Given the description of an element on the screen output the (x, y) to click on. 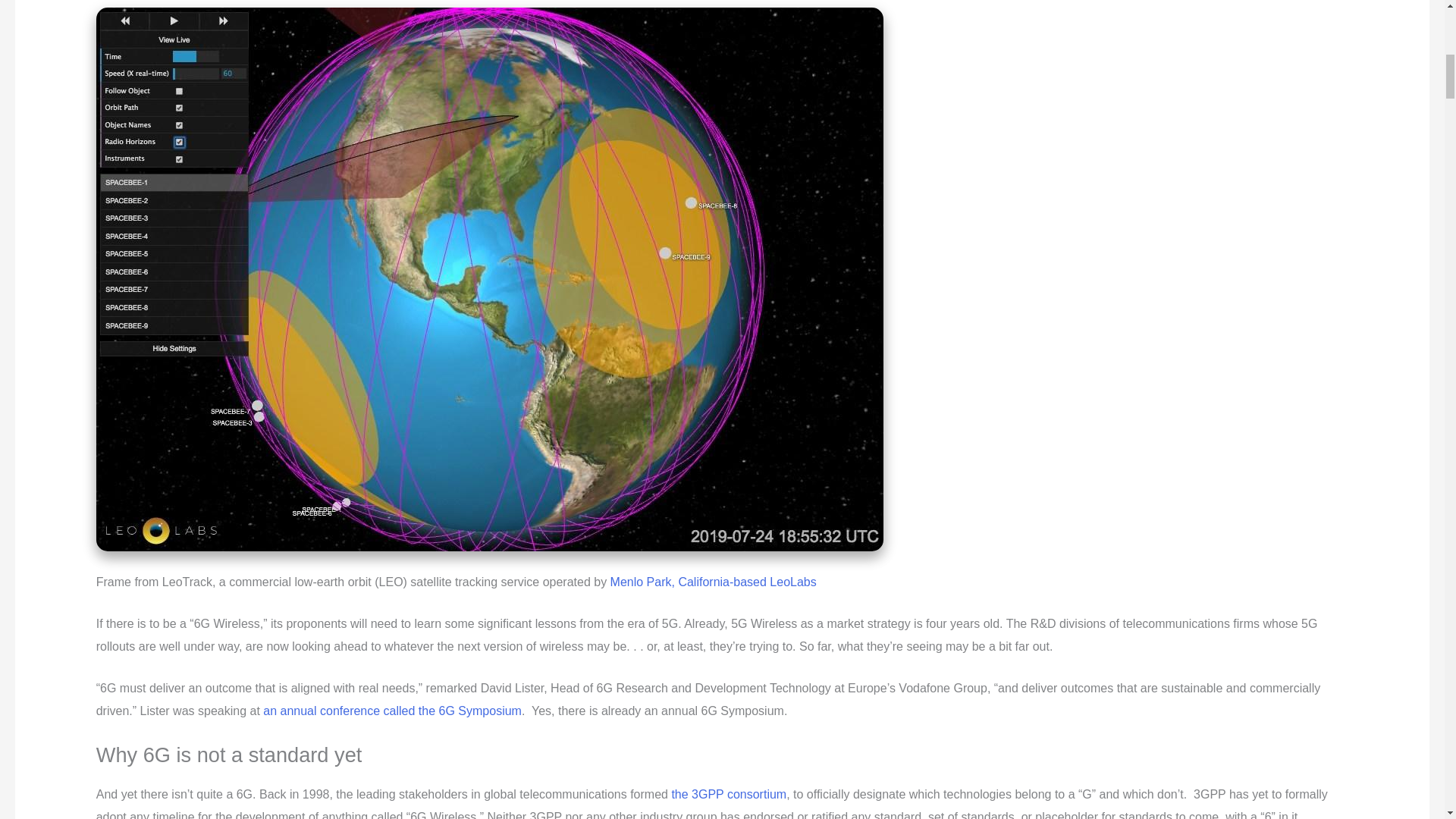
the 3GPP consortium (728, 793)
an annual conference called the 6G Symposium (392, 709)
Menlo Park, California-based LeoLabs (713, 581)
